Given the description of an element on the screen output the (x, y) to click on. 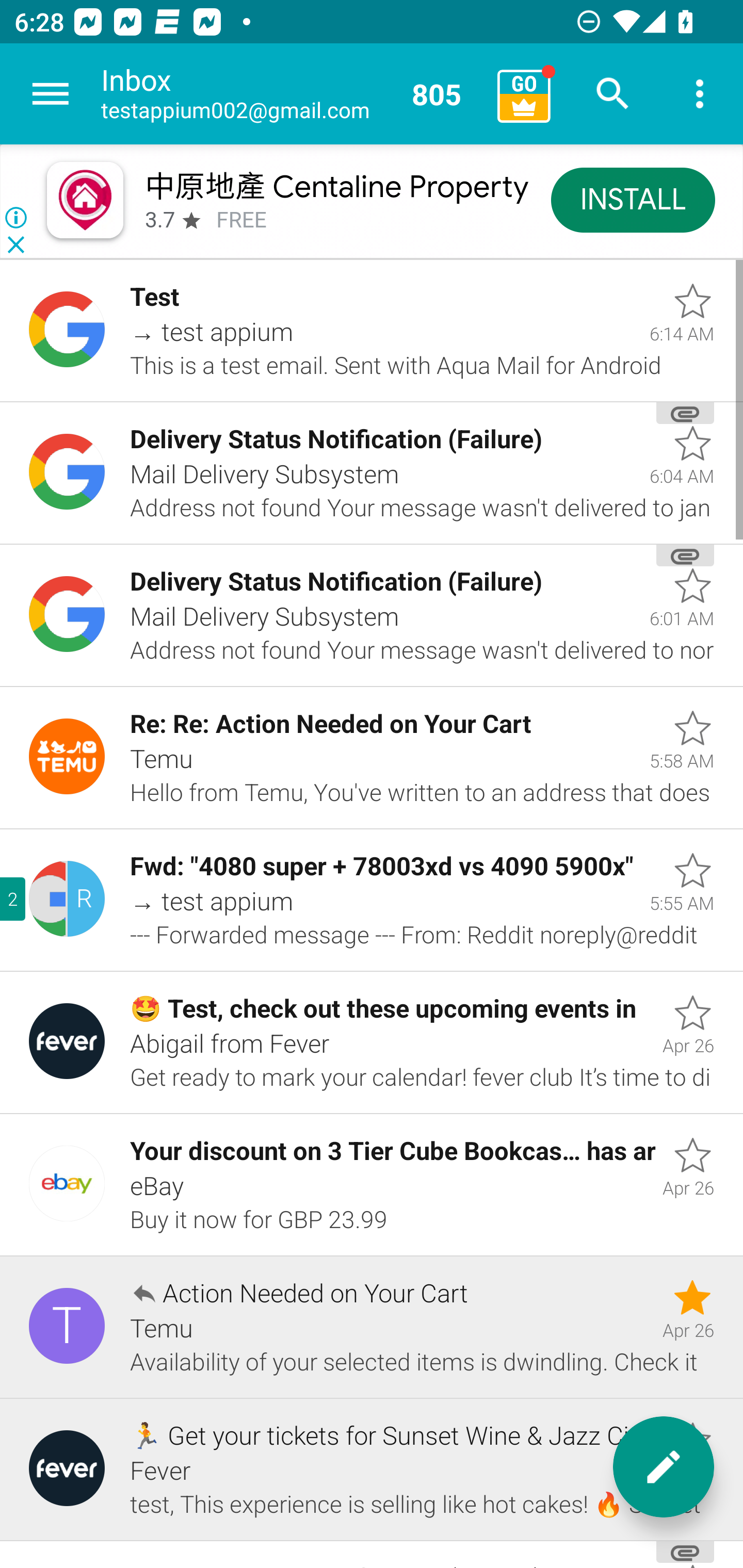
Navigate up (50, 93)
Inbox testappium002@gmail.com 805 (291, 93)
Search (612, 93)
More options (699, 93)
中原地產 Centaline Property (335, 185)
INSTALL (632, 199)
3.7 (158, 220)
FREE (241, 220)
New message (663, 1466)
